Given the description of an element on the screen output the (x, y) to click on. 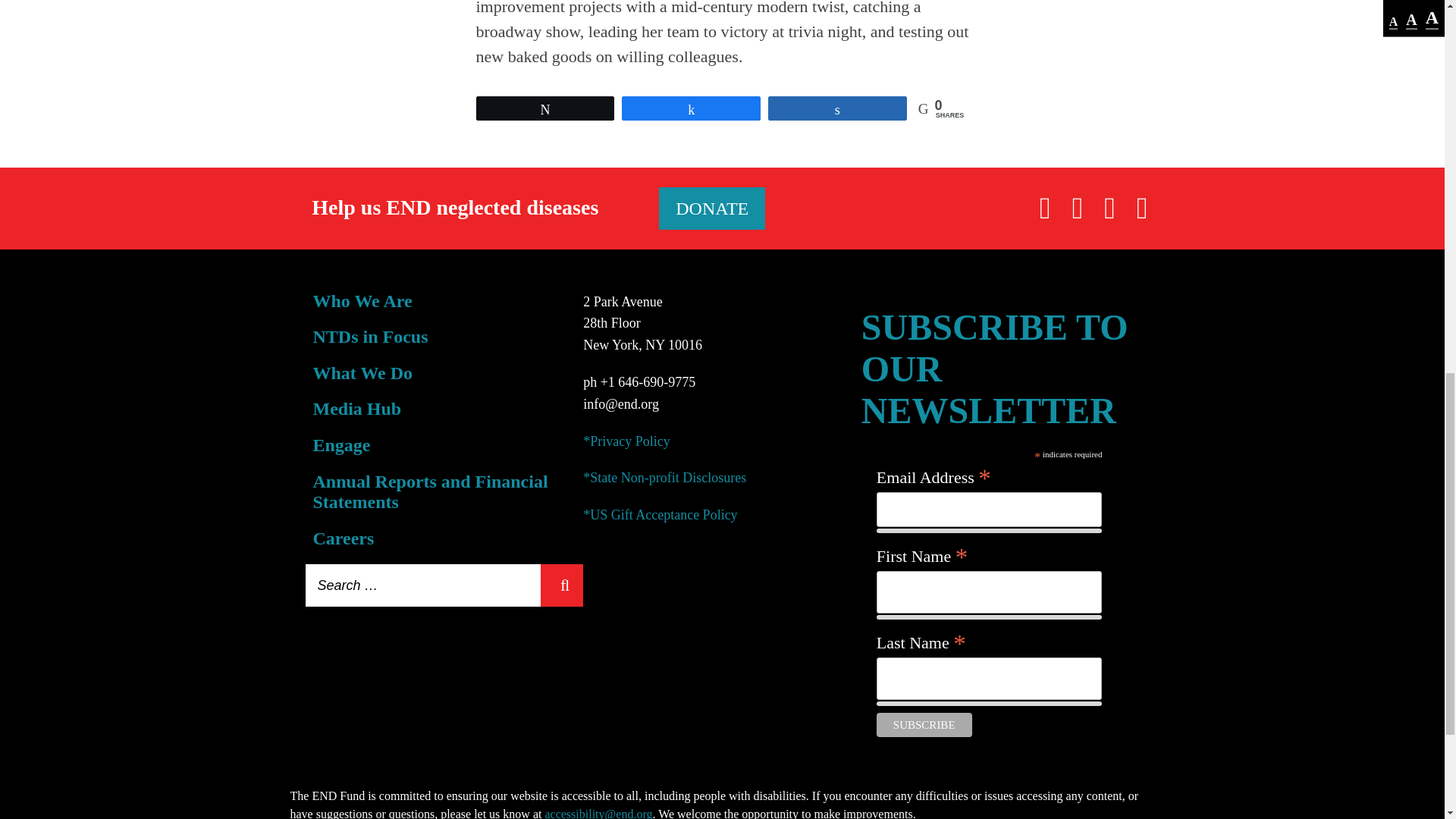
Search (561, 585)
Who We Are (362, 301)
NTDs in Focus (370, 336)
Subscribe (924, 724)
Search (561, 585)
Media Hub (357, 408)
DONATE (712, 208)
Engage (341, 444)
Annual Reports and Financial Statements (430, 491)
Subscribe (924, 724)
